Given the description of an element on the screen output the (x, y) to click on. 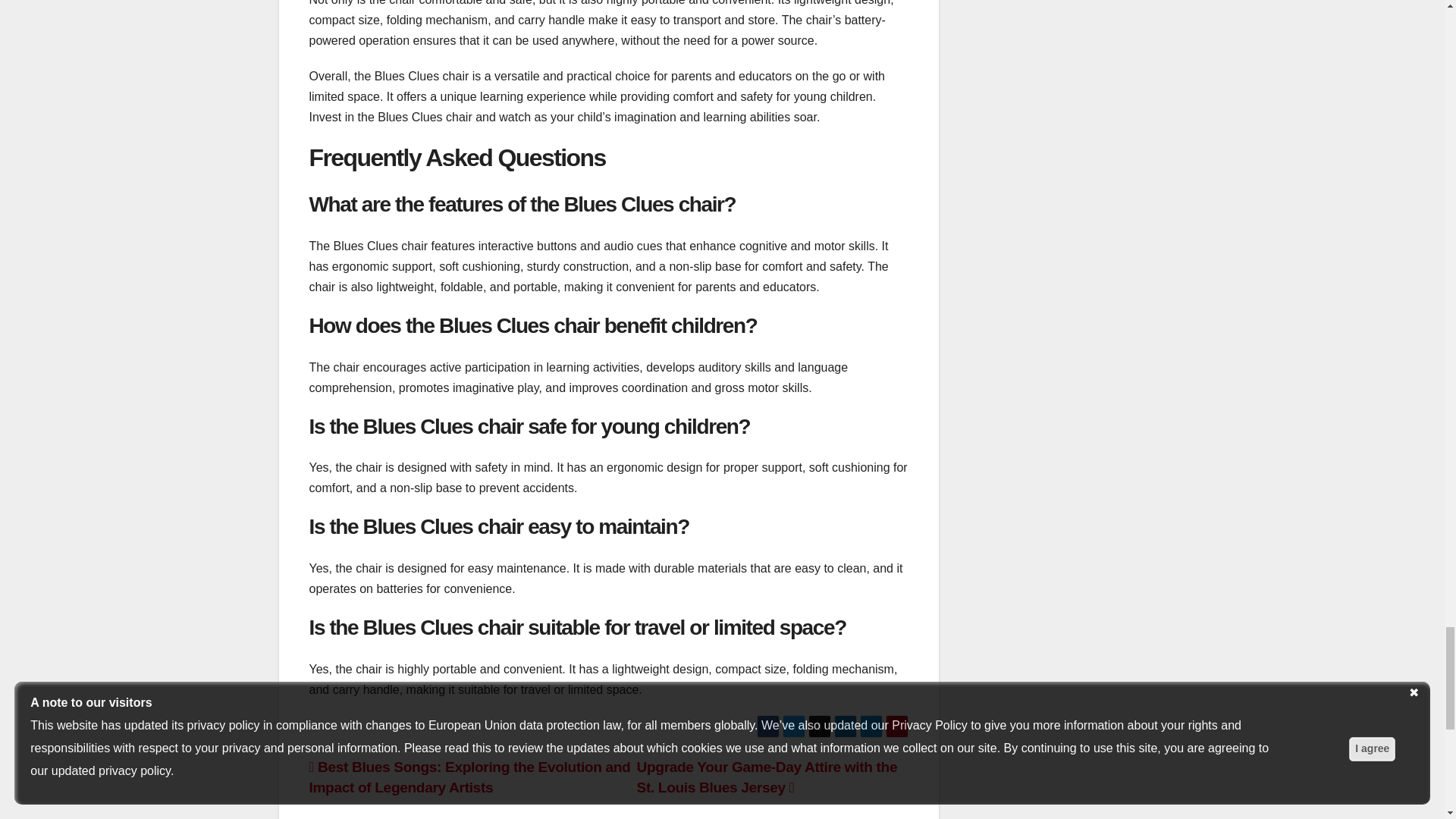
Upgrade Your Game-Day Attire with the St. Louis Blues Jersey (767, 777)
